Given the description of an element on the screen output the (x, y) to click on. 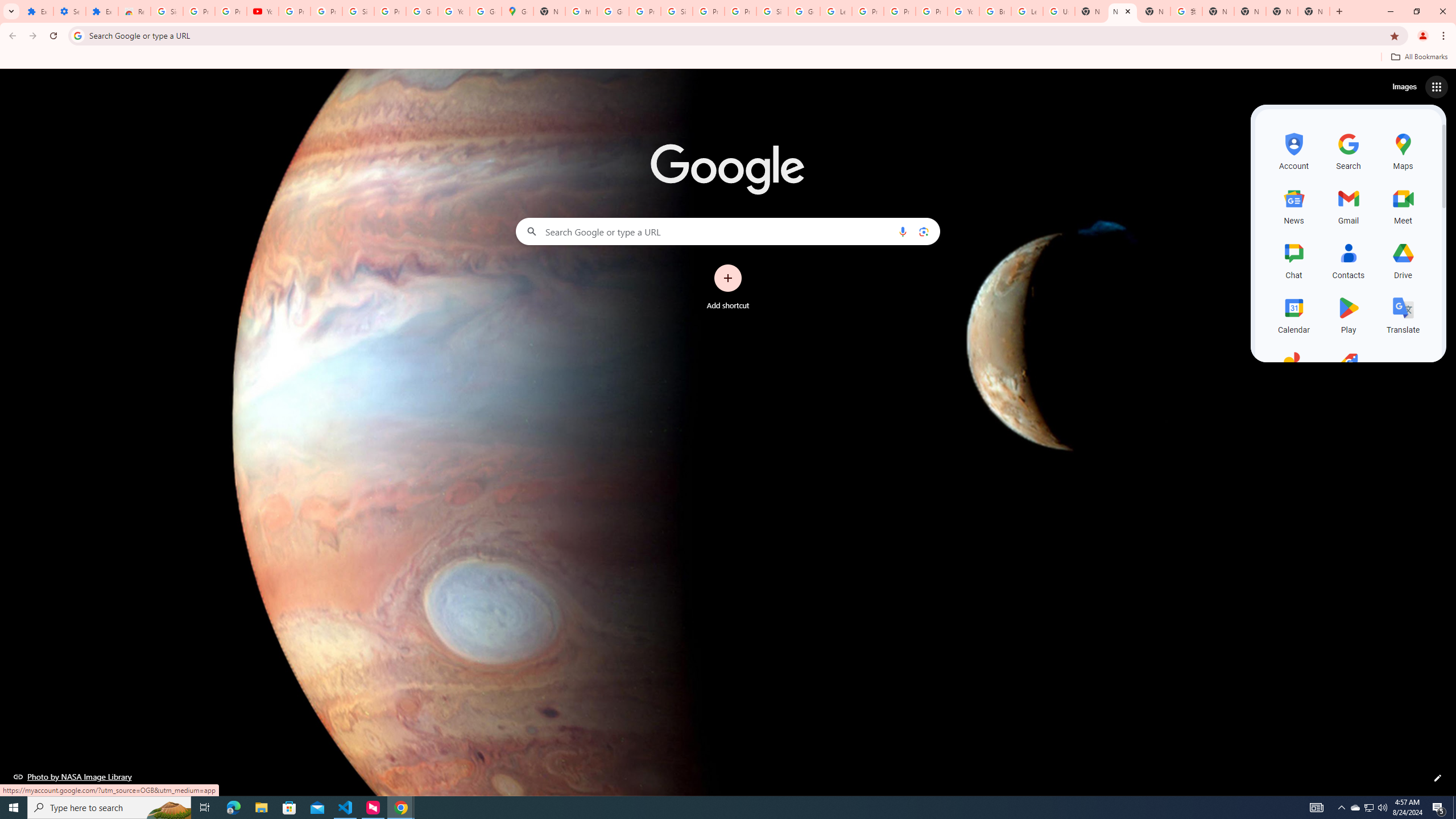
Maps, row 1 of 5 and column 3 of 3 in the first section (1402, 149)
Contacts, row 3 of 5 and column 2 of 3 in the first section (1348, 259)
Privacy Help Center - Policies Help (899, 11)
Photos, row 5 of 5 and column 1 of 3 in the first section (1293, 368)
Search, row 1 of 5 and column 2 of 3 in the first section (1348, 149)
